Given the description of an element on the screen output the (x, y) to click on. 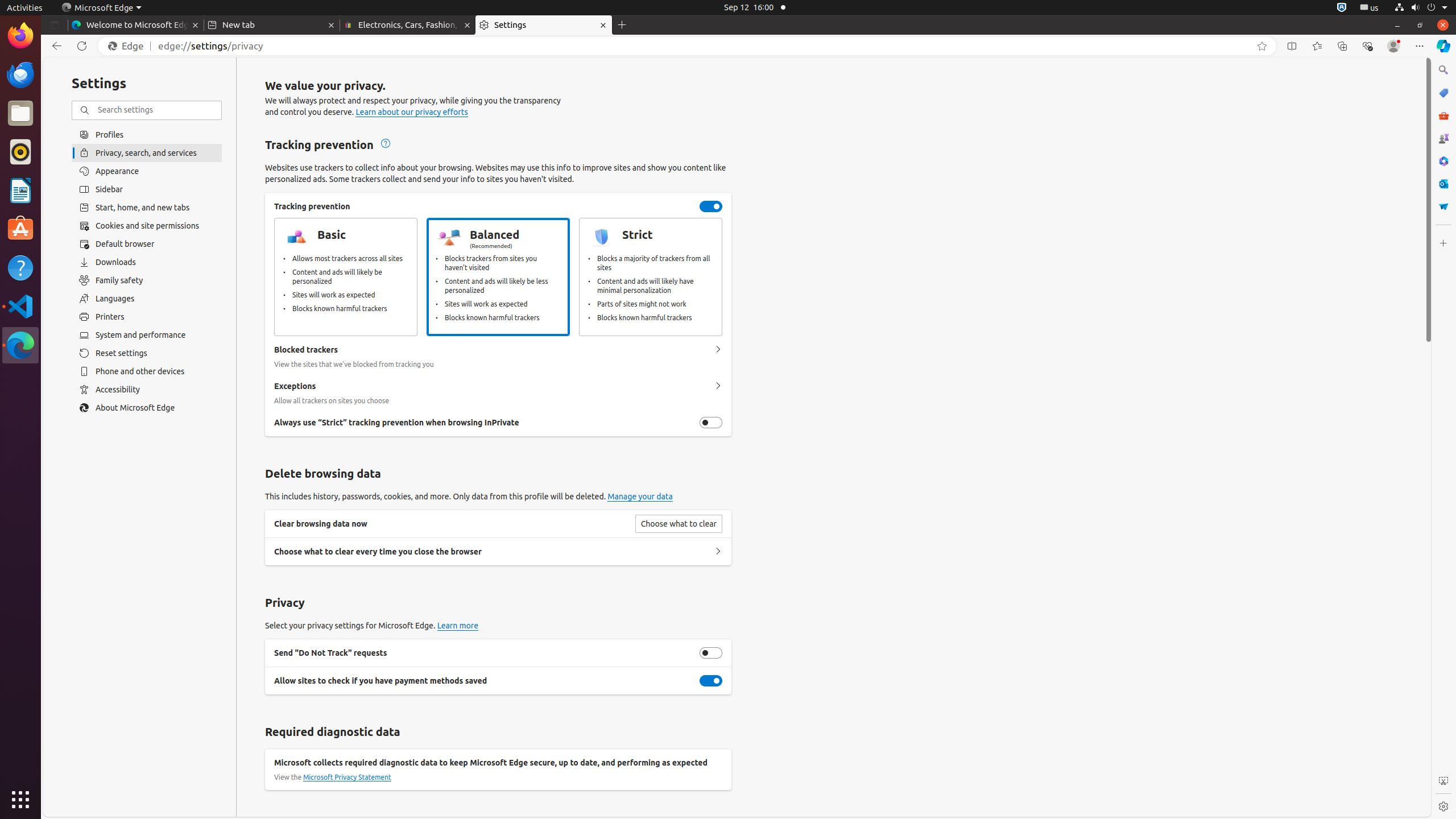
Tracking prevention Element type: check-box (710, 206)
Settings and more (Alt+F) Element type: push-button (1419, 45)
Thunderbird Mail Element type: push-button (20, 74)
New tab Element type: page-tab (271, 25)
Help Element type: push-button (20, 267)
